Given the description of an element on the screen output the (x, y) to click on. 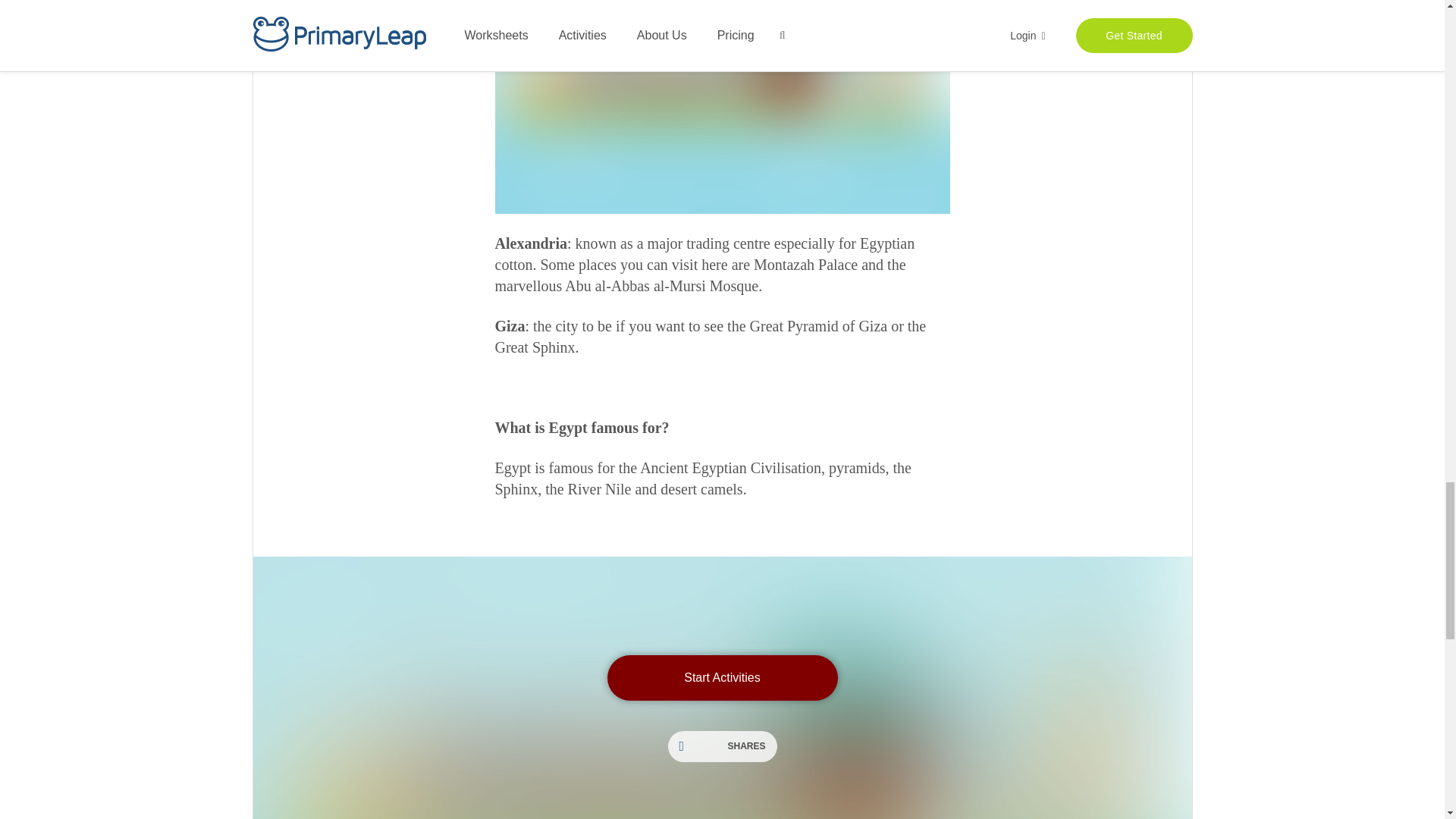
Start Activities (722, 678)
SHARES (721, 746)
